Given the description of an element on the screen output the (x, y) to click on. 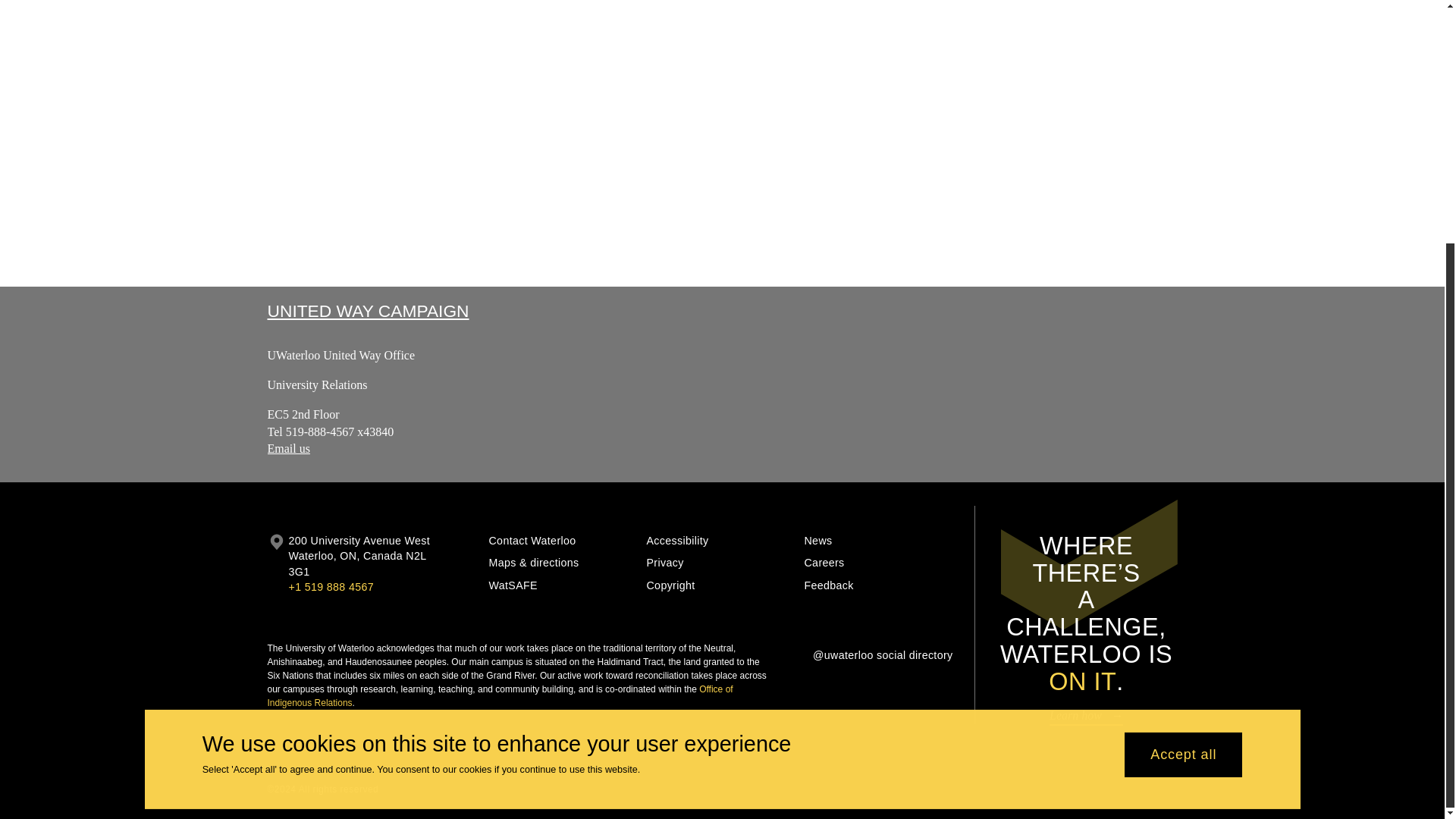
UNITED WAY CAMPAIGN (367, 311)
Email us (287, 448)
